Given the description of an element on the screen output the (x, y) to click on. 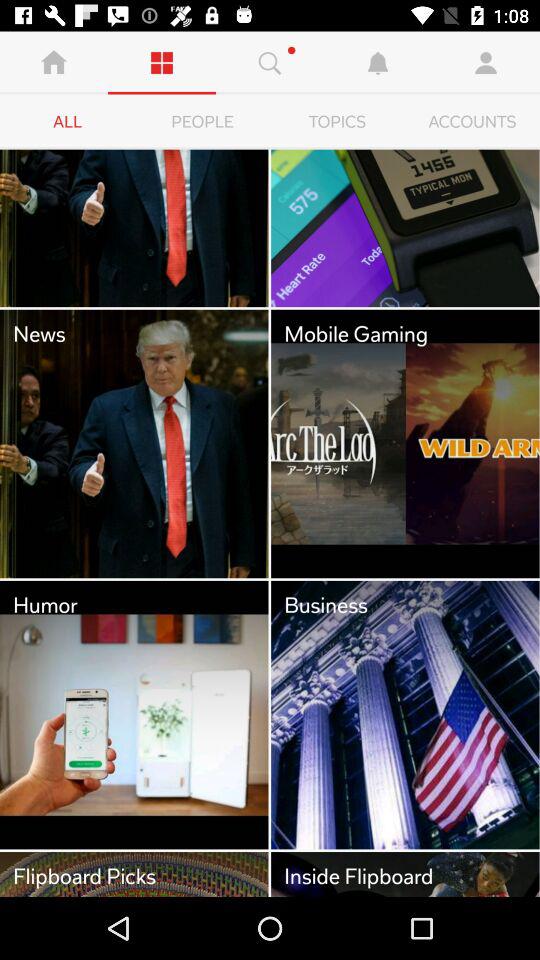
turn on icon above people (270, 62)
